Given the description of an element on the screen output the (x, y) to click on. 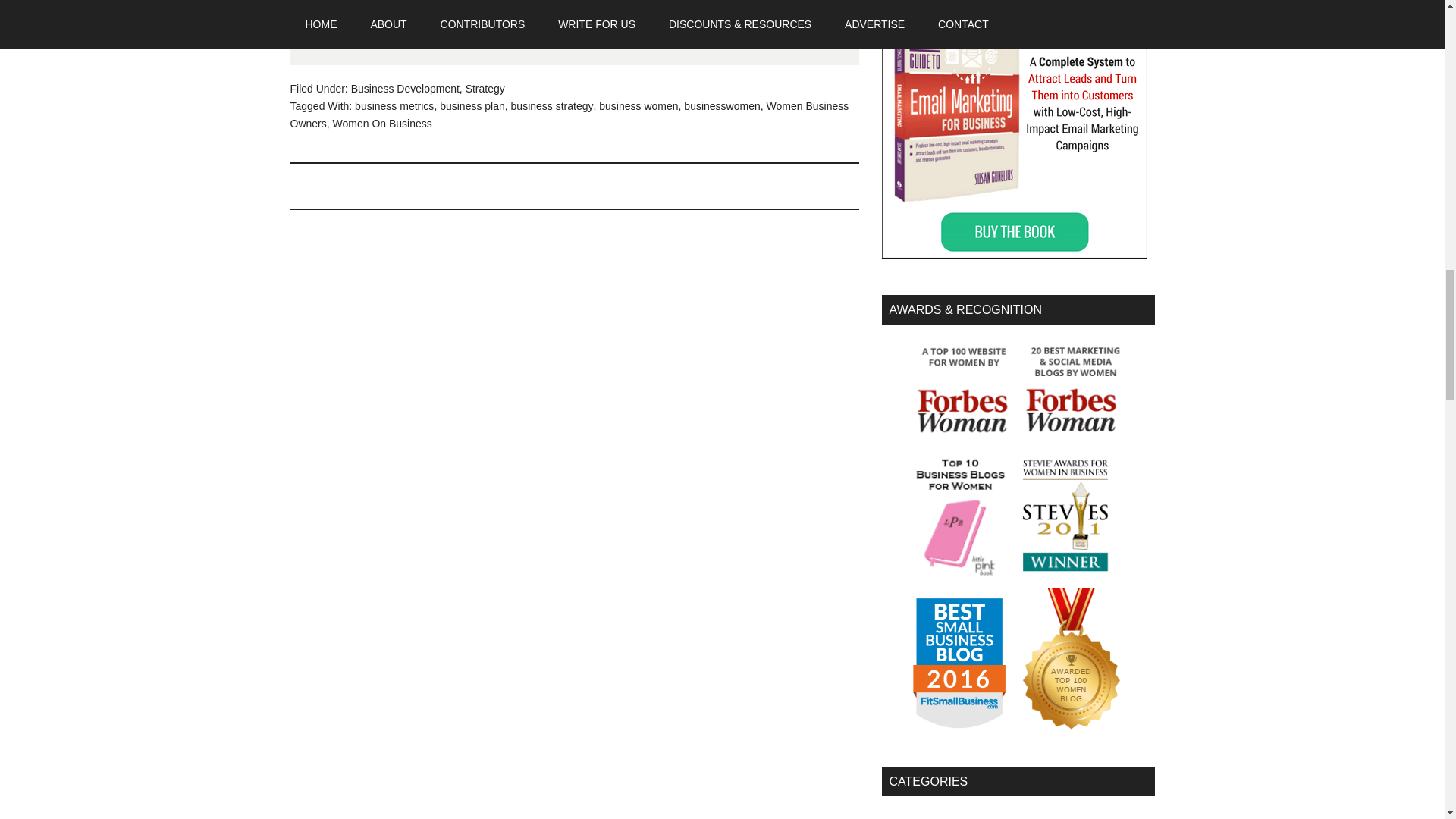
business women (638, 105)
business plan (472, 105)
Women blogs (1017, 781)
businesswomen (722, 105)
Strategy (485, 88)
Women blogs (1064, 725)
Women On Business (382, 123)
Women Business Owners (568, 114)
Business Development (405, 88)
business metrics (394, 105)
business strategy (552, 105)
